Given the description of an element on the screen output the (x, y) to click on. 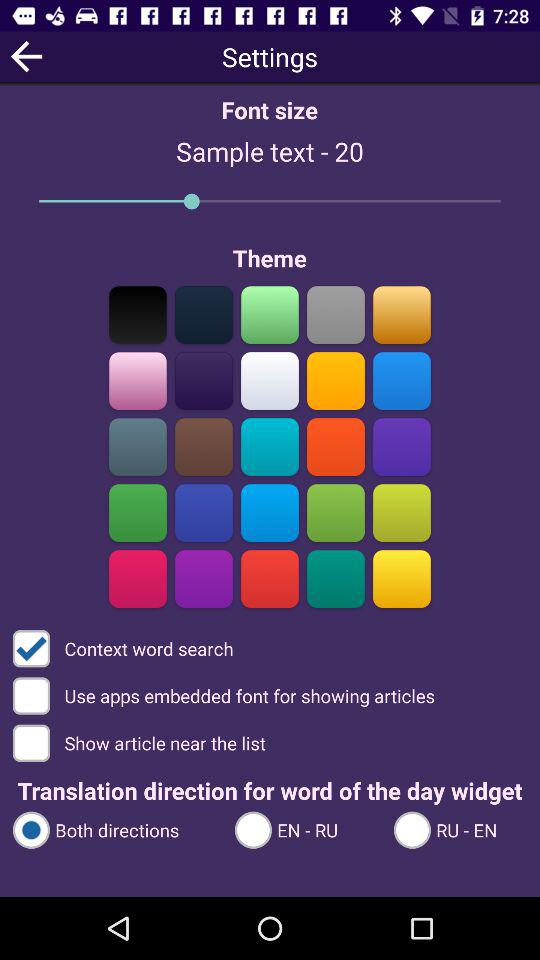
select theme color as sky blue (401, 380)
